Given the description of an element on the screen output the (x, y) to click on. 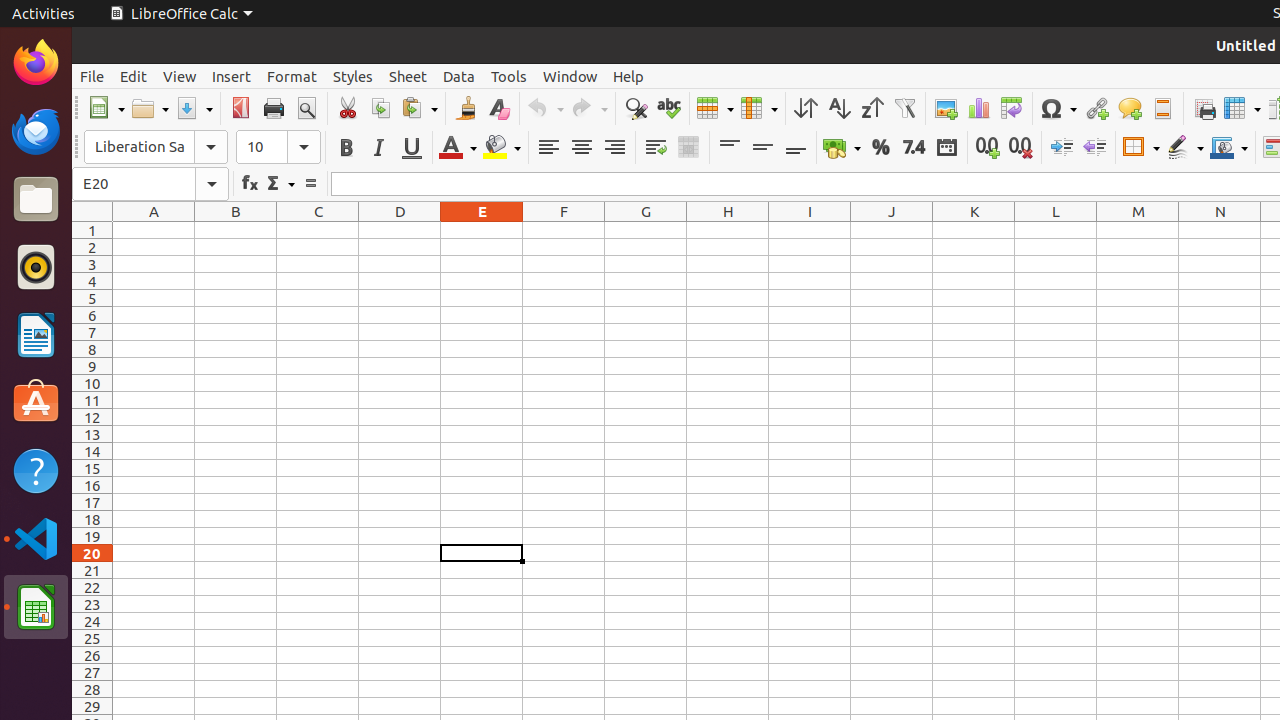
Files Element type: push-button (36, 199)
Font Color Element type: push-button (458, 147)
LibreOffice Writer Element type: push-button (36, 334)
Delete Decimal Place Element type: push-button (1020, 147)
Percent Element type: push-button (880, 147)
